Given the description of an element on the screen output the (x, y) to click on. 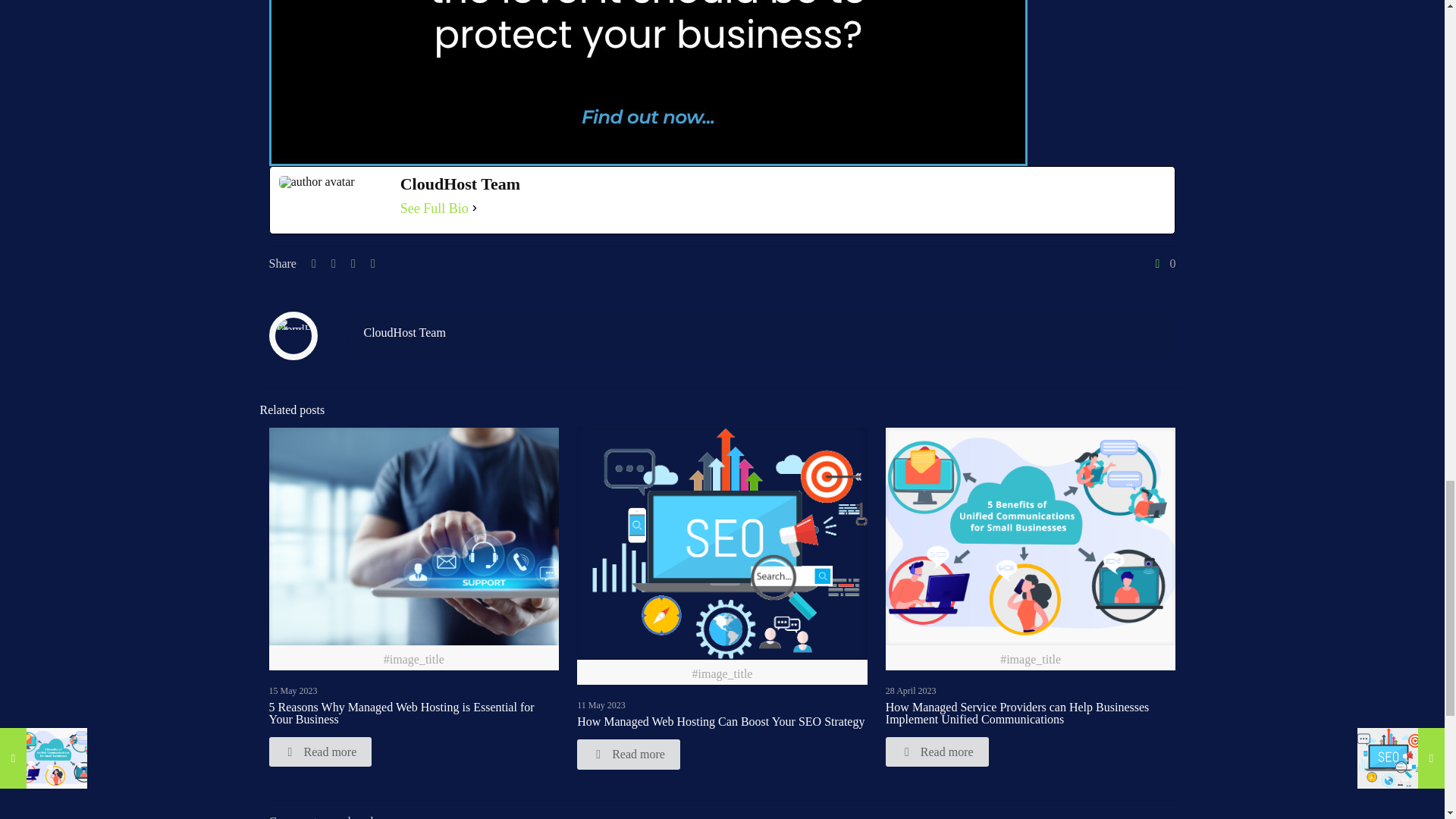
See Full Bio (434, 208)
0 (1162, 263)
